Given the description of an element on the screen output the (x, y) to click on. 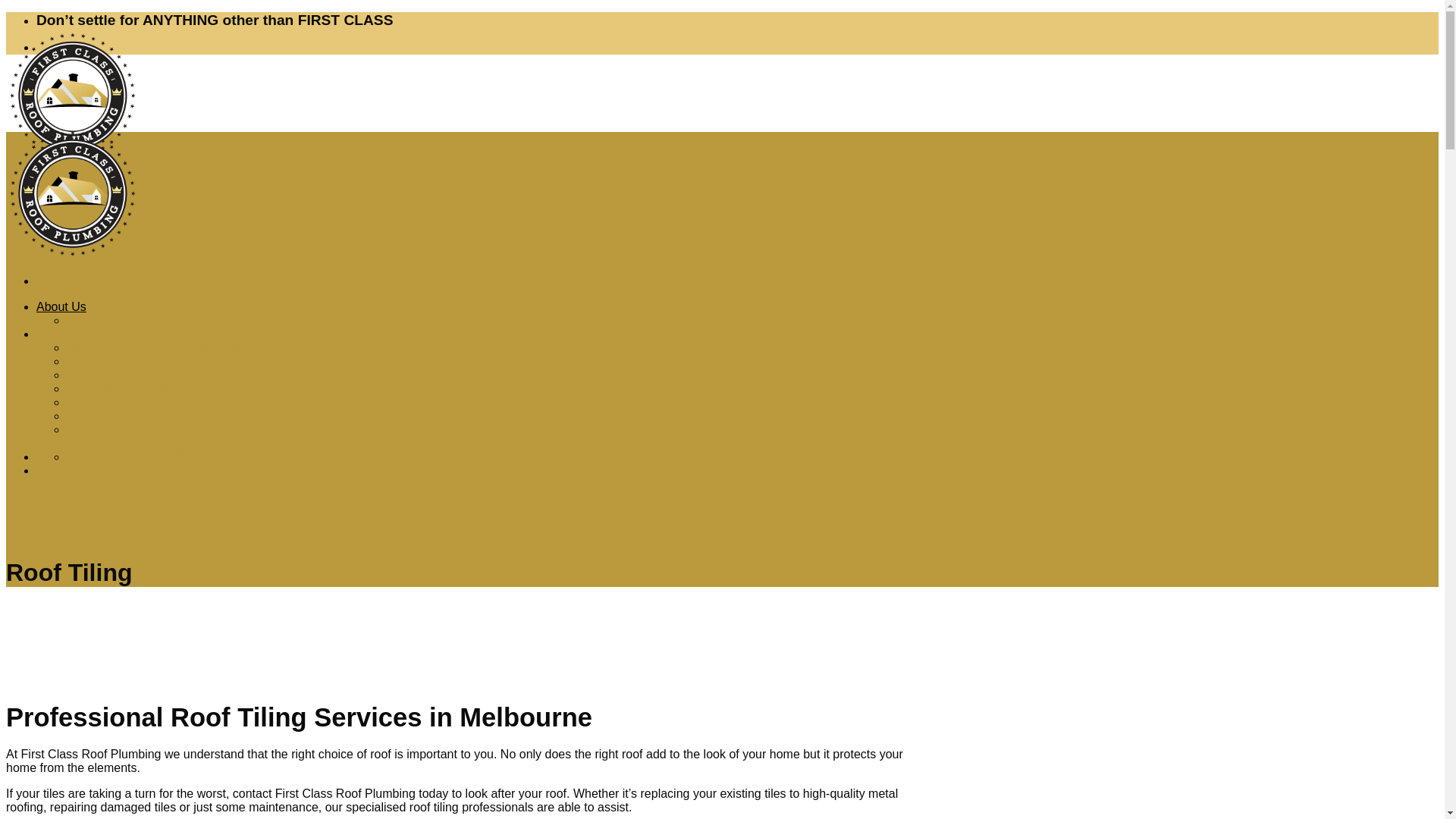
Emergency Call Out Element type: text (120, 388)
Services Element type: text (59, 333)
Guttering and Downpipes Element type: text (134, 401)
Metal Roofing Element type: text (103, 360)
Contact Us Element type: text (66, 470)
Reroofing and Roof Replacements Element type: text (159, 347)
Skip to content Element type: text (5, 11)
Roof Tiling Element type: text (95, 415)
Gallery Element type: text (85, 319)
About Us Element type: text (61, 306)
Gutter Replacements Element type: text (123, 374)
Roof Restorations Element type: text (114, 429)
+61473537229 Element type: text (127, 456)
